Given the description of an element on the screen output the (x, y) to click on. 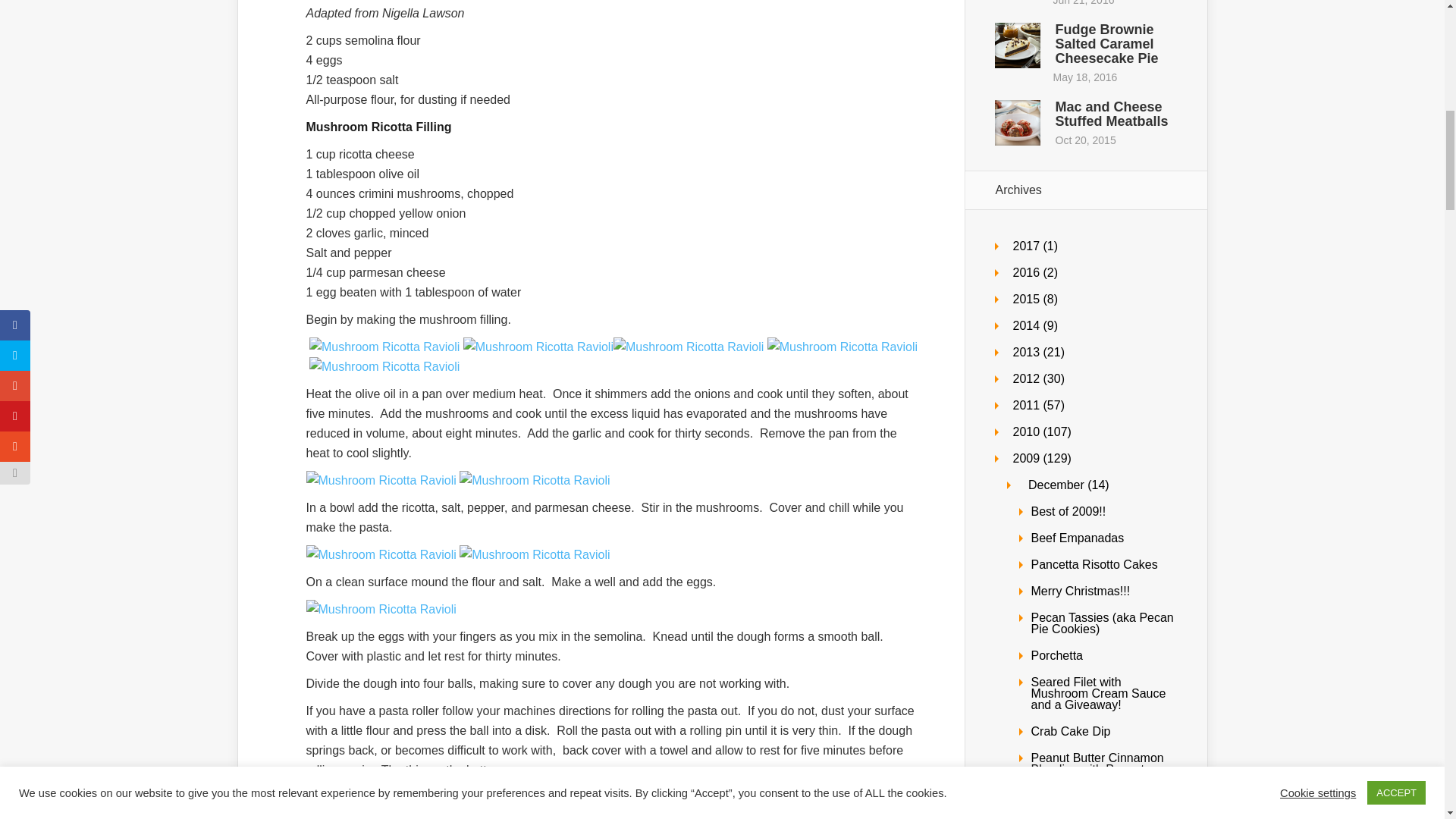
Mushroom Ricotta Ravioli (381, 480)
Mushroom Ricotta Ravioli (687, 346)
Mushroom Ricotta Ravioli (537, 346)
Mushroom Ricotta Ravioli (533, 797)
Mushroom Ricotta Ravioli (533, 480)
Mushroom Ricotta Ravioli (381, 797)
Mushroom Ricotta Ravioli (533, 554)
Mushroom Ricotta Ravioli (382, 346)
Mushroom Ricotta Ravioli (381, 608)
Mushroom Ricotta Ravioli (762, 797)
